Given the description of an element on the screen output the (x, y) to click on. 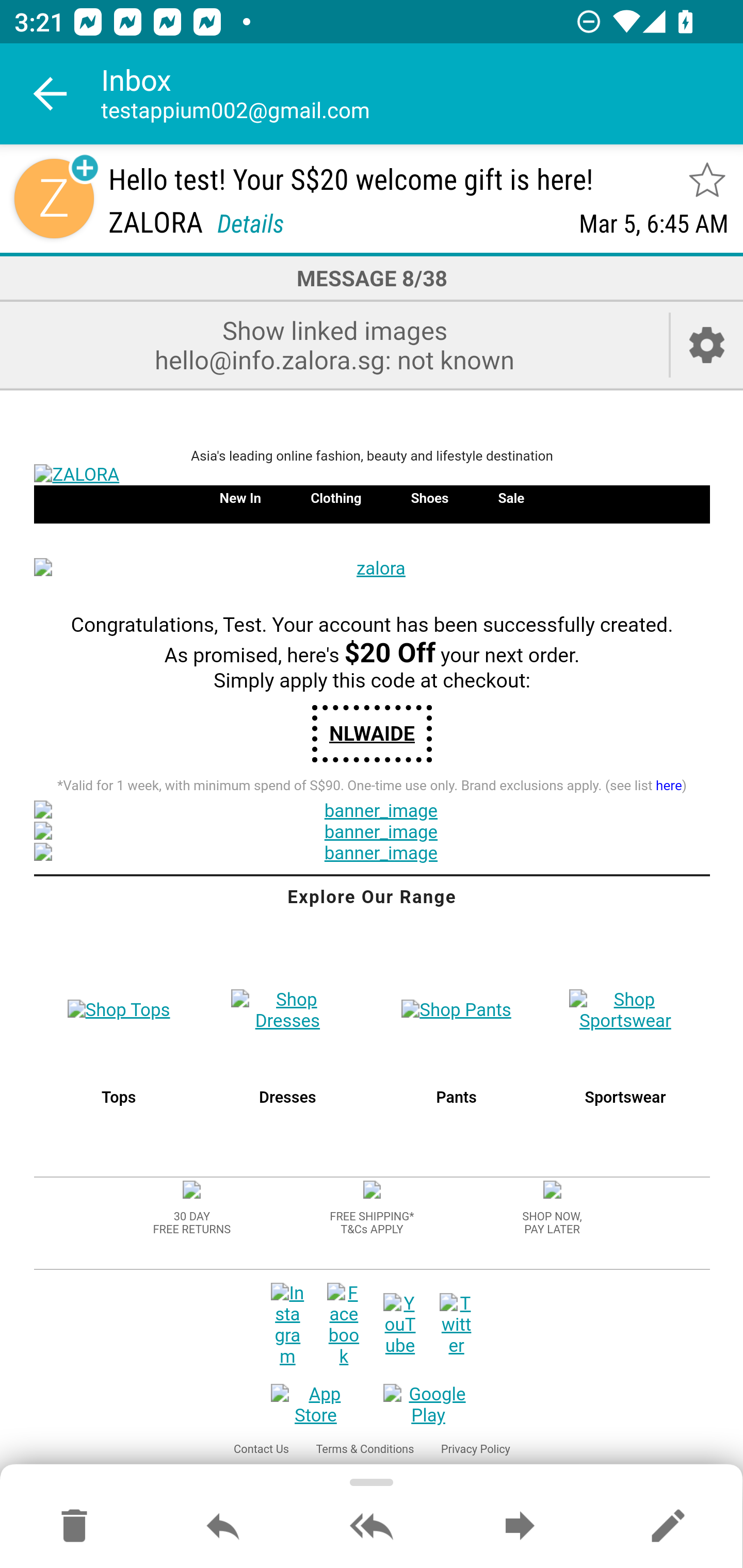
Navigate up (50, 93)
Inbox testappium002@gmail.com (422, 93)
Sender contact button (53, 198)
Show linked images
hello@info.zalora.sg: not known (334, 344)
Account setup (706, 344)
ZALORA (371, 475)
New In (239, 497)
Clothing (336, 497)
Shoes (429, 497)
Sale (510, 497)
zalora (371, 569)
NLWAIDE (371, 733)
here (668, 786)
banner_image (371, 811)
banner_image (371, 833)
banner_image (371, 852)
Shop Dresses (287, 1010)
Shop Sportswear (624, 1010)
Shop Tops (118, 1010)
Shop Pants (456, 1010)
Tops (119, 1098)
Dresses (287, 1098)
Pants (456, 1098)
Sportswear (624, 1098)
data: (192, 1191)
data: (371, 1191)
data: (551, 1191)
30 DAY FREE RETURNS 30 DAY FREE RETURNS (191, 1221)
SHOP NOW, PAY LATER SHOP NOW, PAY LATER (552, 1221)
Instagram (286, 1324)
Facebook (343, 1324)
YouTube (400, 1324)
Twitter (456, 1324)
App Store (315, 1405)
Google Play (428, 1405)
Contact Us (261, 1449)
Terms & Conditions (364, 1449)
Privacy Policy (475, 1449)
Move to Deleted (74, 1527)
Reply (222, 1527)
Reply all (371, 1527)
Forward (519, 1527)
Reply as new (667, 1527)
